Given the description of an element on the screen output the (x, y) to click on. 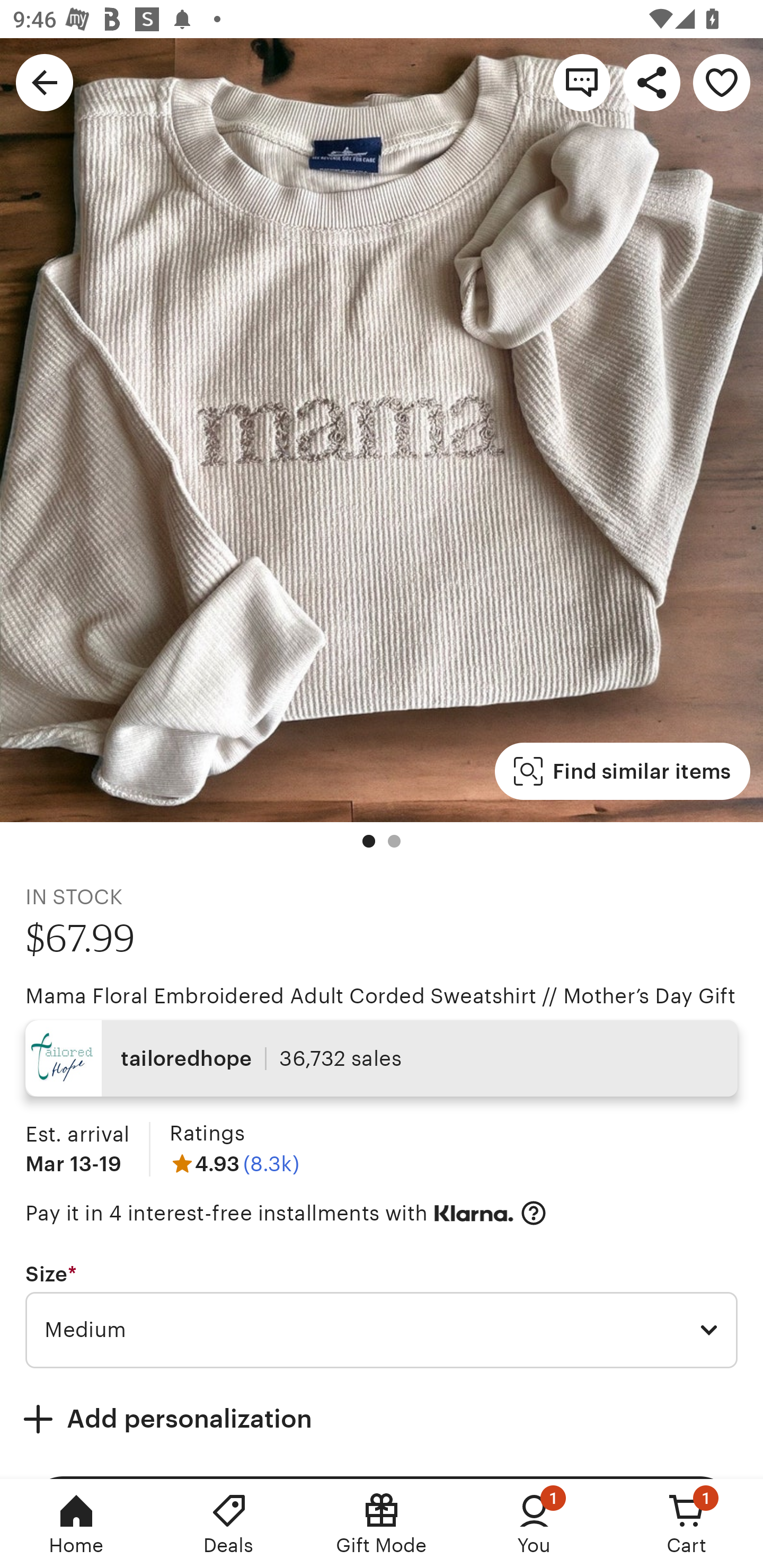
Navigate up (44, 81)
Contact shop (581, 81)
Share (651, 81)
Find similar items (622, 771)
tailoredhope 36,732 sales (381, 1058)
Ratings (206, 1133)
4.93 (8.3k) (234, 1163)
Size * Required Medium (381, 1315)
Medium (381, 1330)
Add personalization Add personalization Required (381, 1418)
Deals (228, 1523)
Gift Mode (381, 1523)
You, 1 new notification You (533, 1523)
Cart, 1 new notification Cart (686, 1523)
